Given the description of an element on the screen output the (x, y) to click on. 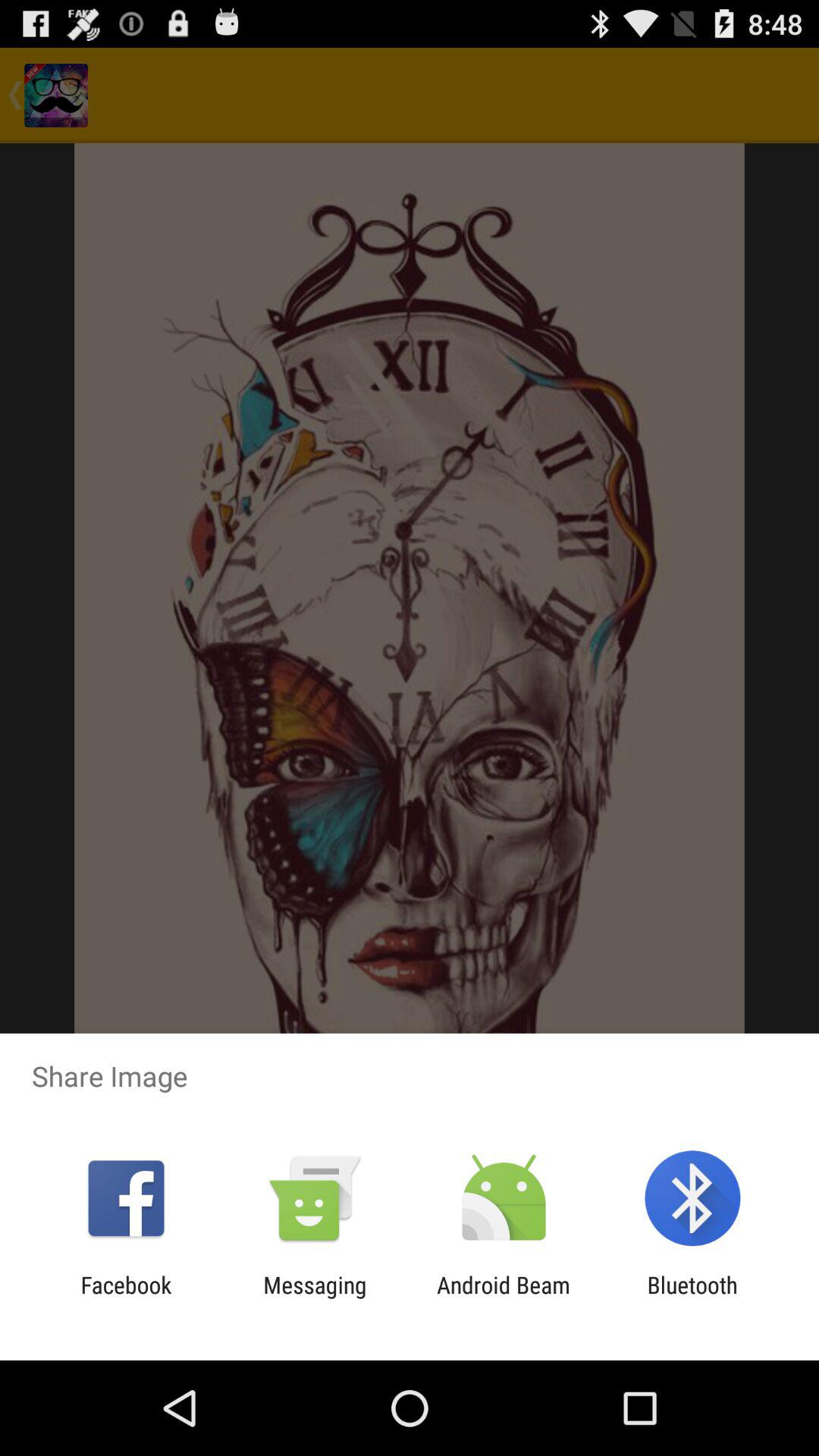
jump until bluetooth item (692, 1298)
